Given the description of an element on the screen output the (x, y) to click on. 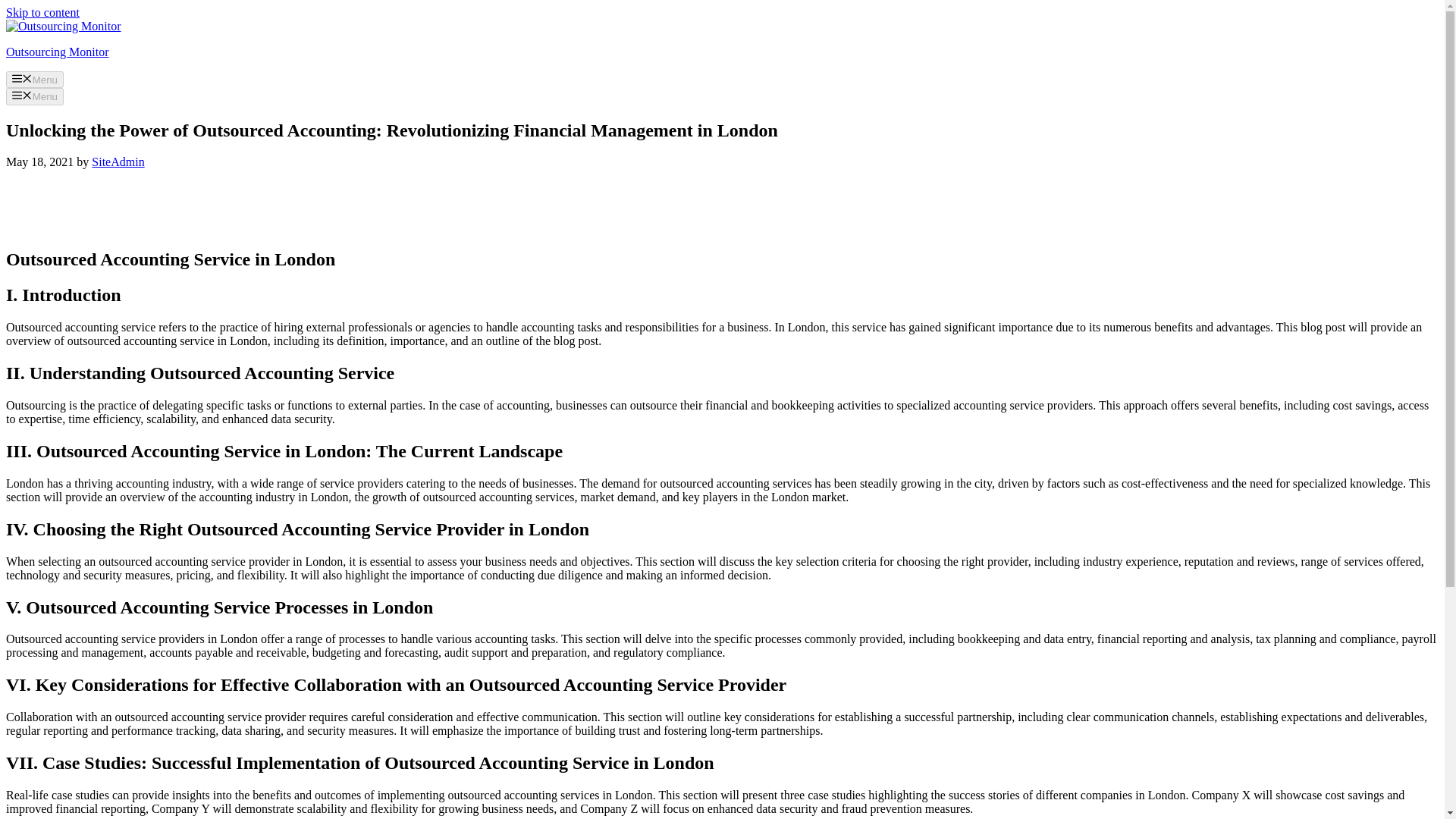
Menu (34, 95)
View all posts by SiteAdmin (117, 161)
Skip to content (42, 11)
Menu (34, 79)
SiteAdmin (117, 161)
Skip to content (42, 11)
Outsourcing Monitor (57, 51)
